Given the description of an element on the screen output the (x, y) to click on. 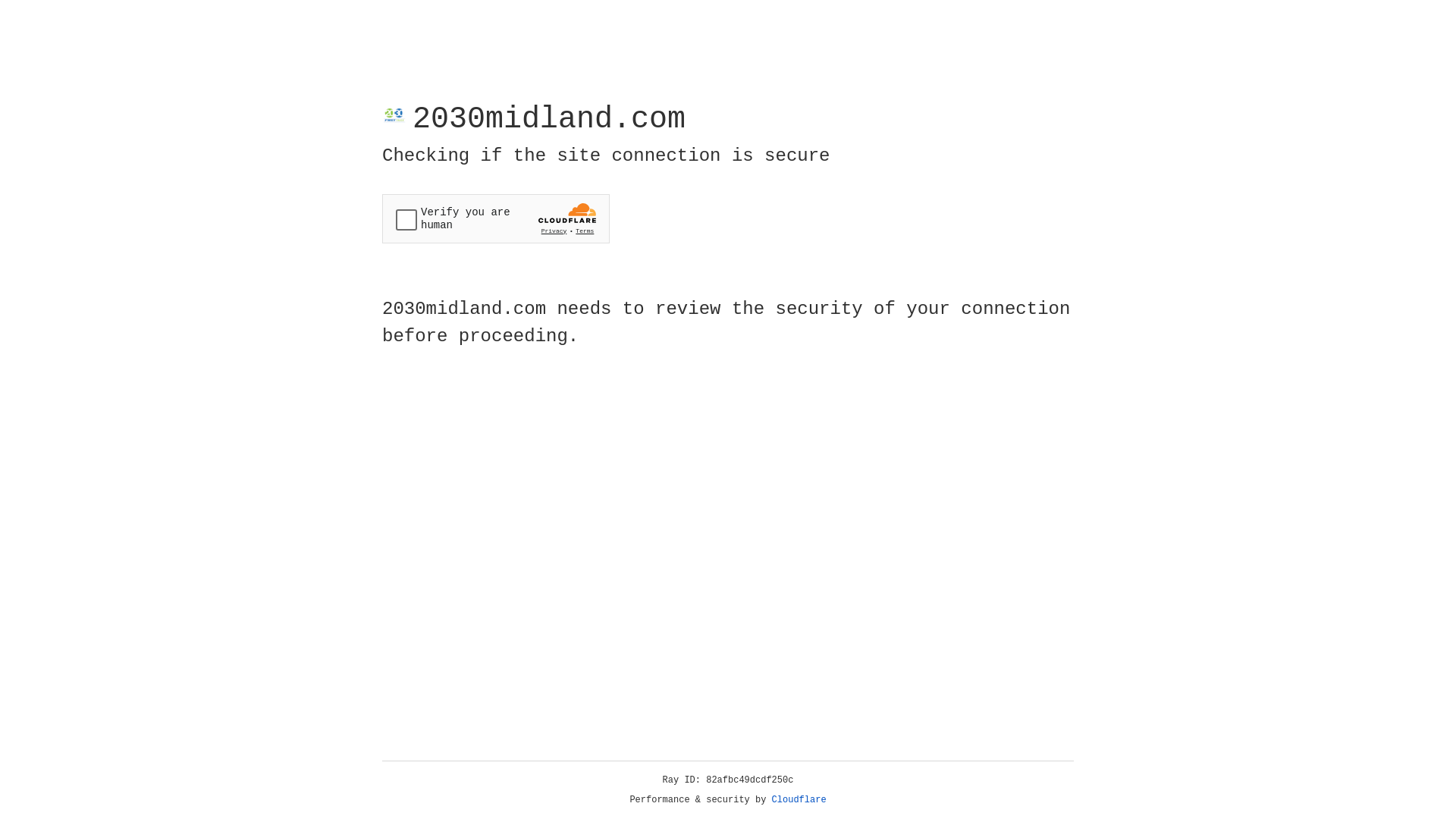
Widget containing a Cloudflare security challenge Element type: hover (495, 218)
Cloudflare Element type: text (798, 799)
